Given the description of an element on the screen output the (x, y) to click on. 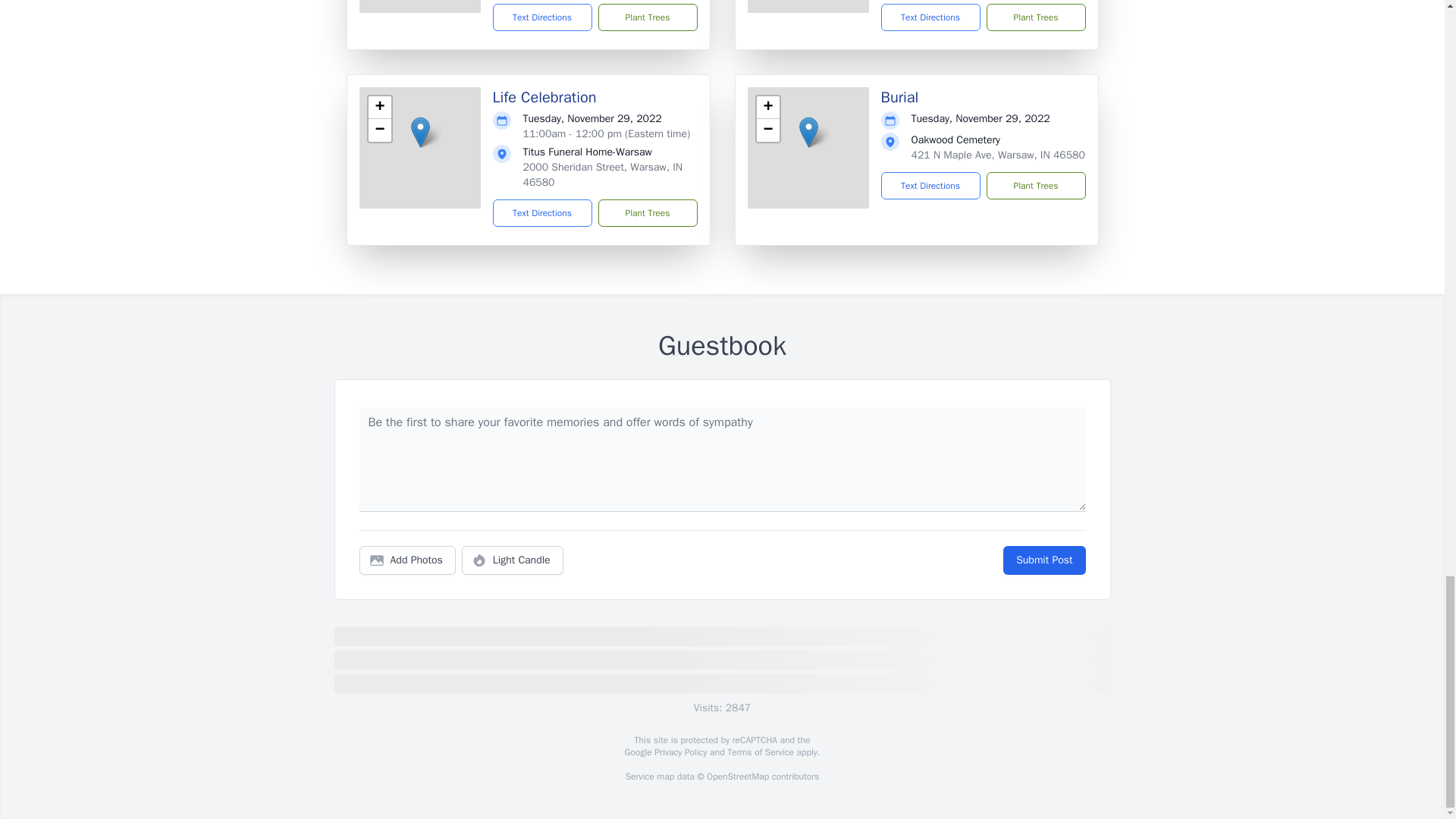
2000 Sheridan Street, Warsaw, IN 46580 (602, 174)
Plant Trees (1034, 17)
Text Directions (542, 212)
Zoom out (379, 129)
Text Directions (929, 17)
Plant Trees (646, 17)
Text Directions (542, 17)
Zoom out (767, 129)
Zoom in (767, 107)
Zoom in (379, 107)
